Given the description of an element on the screen output the (x, y) to click on. 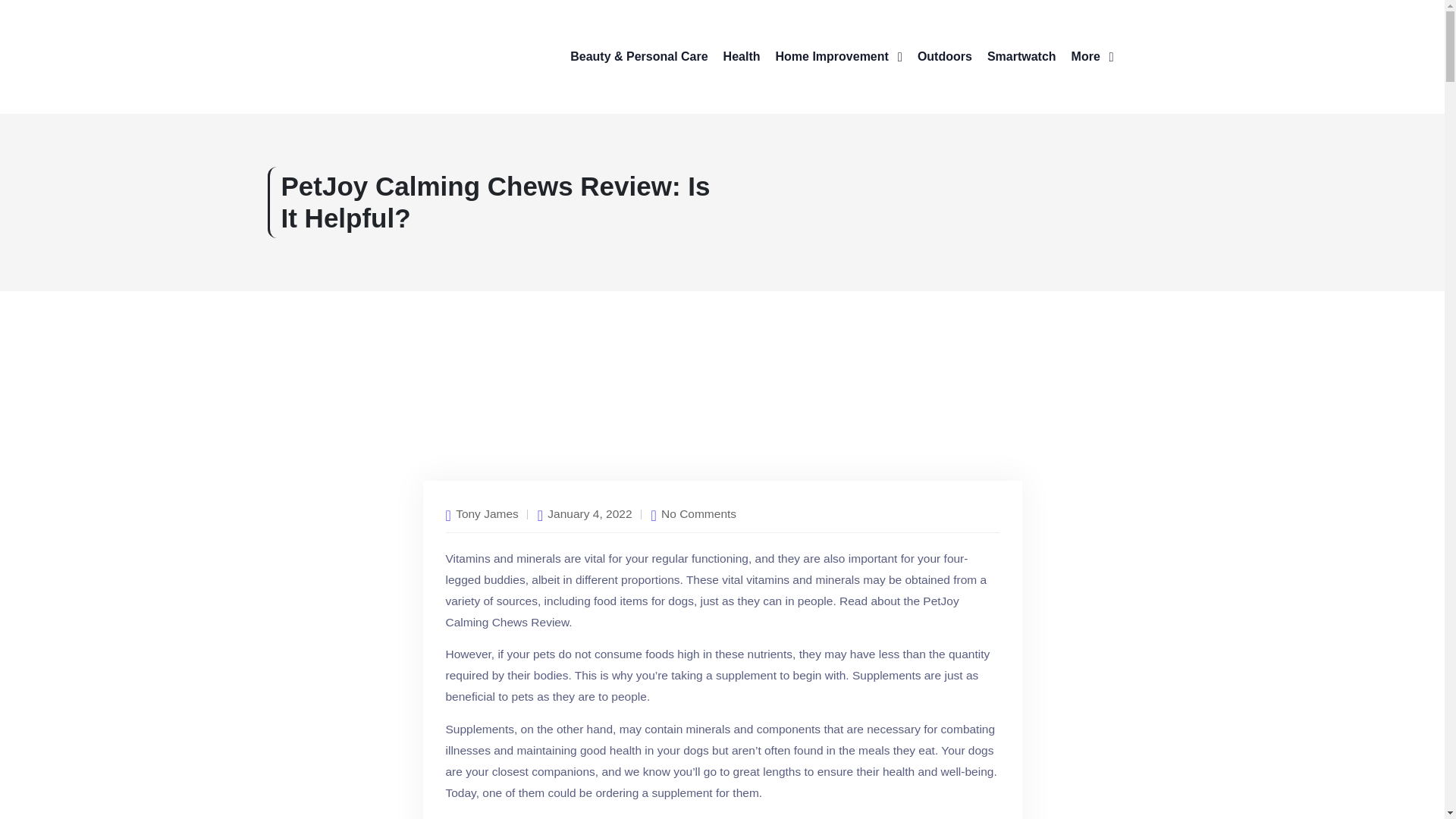
Home Improvement (837, 56)
Smartwatch (1022, 56)
Smartwatch (1022, 56)
Home Improvement (837, 56)
Tony James (486, 513)
